Given the description of an element on the screen output the (x, y) to click on. 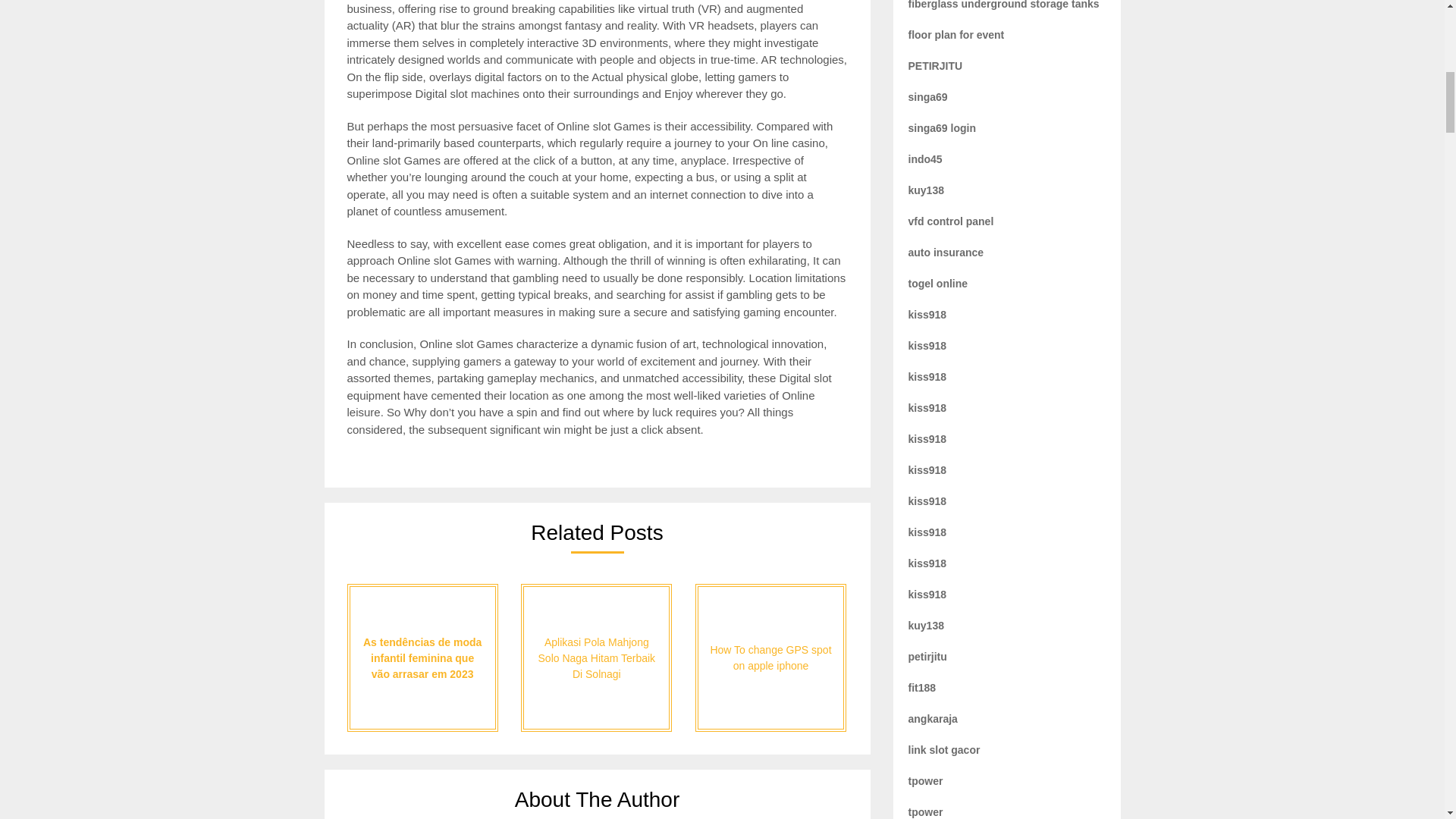
kiss918 (927, 314)
Aplikasi Pola Mahjong Solo Naga Hitam Terbaik Di Solnagi (596, 657)
kuy138 (925, 190)
kiss918 (927, 594)
kiss918 (927, 377)
indo45 (925, 159)
vfd control panel (951, 221)
kiss918 (927, 532)
auto insurance (946, 252)
kiss918 (927, 500)
Aplikasi Pola Mahjong Solo Naga Hitam Terbaik Di Solnagi (596, 657)
floor plan for event (956, 34)
How To change GPS spot on apple iphone (770, 657)
singa69 (927, 96)
togel online (938, 283)
